Given the description of an element on the screen output the (x, y) to click on. 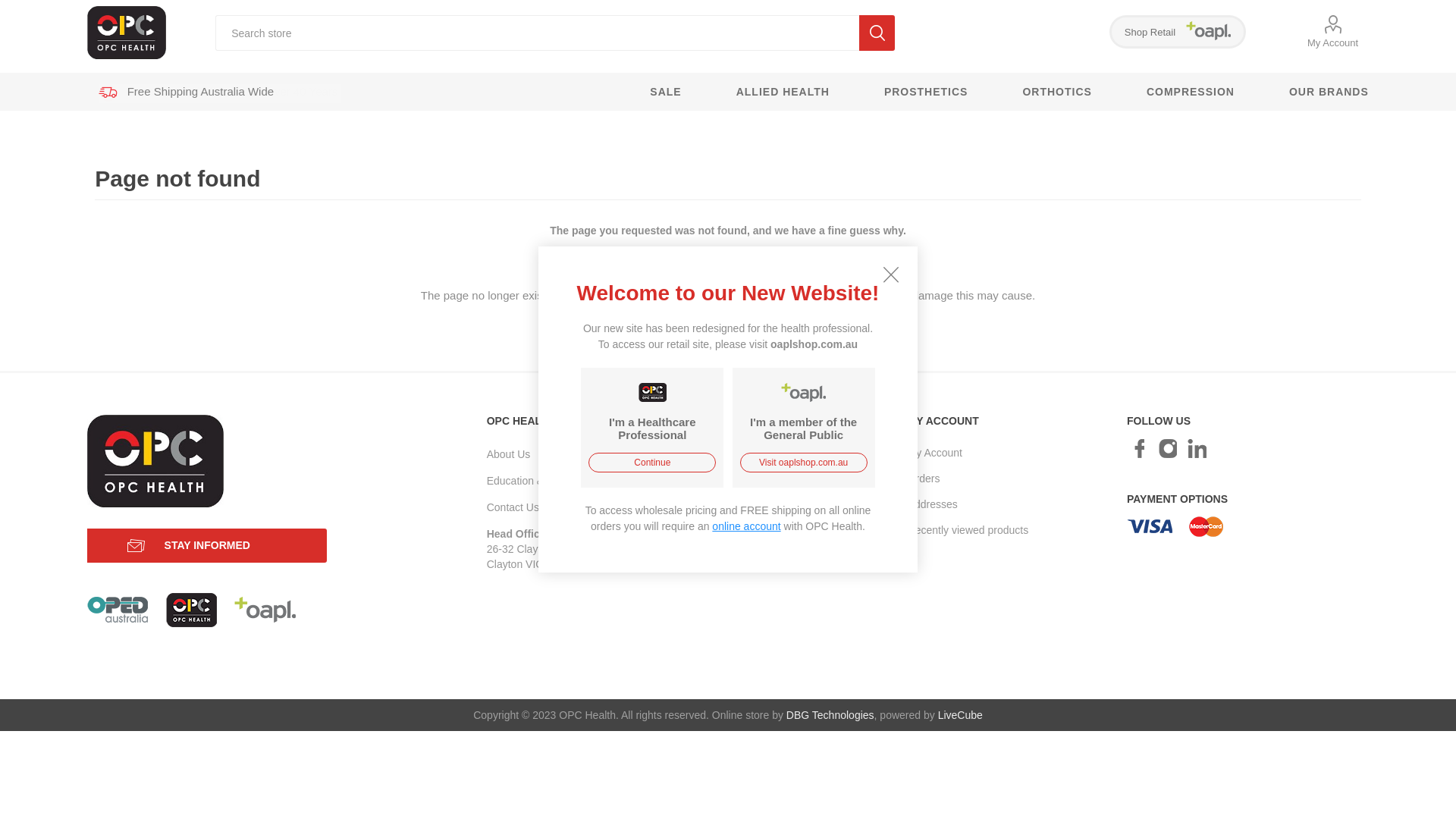
OPC Health Element type: hover (126, 32)
ALLIED HEALTH Element type: text (782, 91)
Addresses Element type: text (932, 504)
Help & FAQ Element type: text (724, 530)
Education & Events Element type: text (532, 480)
Shipping & Returns Element type: text (742, 452)
Terms & Conditions Element type: text (742, 504)
My Account Element type: text (934, 452)
PROSTHETICS Element type: text (925, 91)
My Account Element type: text (1332, 31)
DBG Technologies Element type: text (830, 715)
online account Element type: text (746, 526)
Contact Us Element type: text (512, 507)
Privacy Policy Element type: text (729, 478)
ORTHOTICS Element type: text (1056, 91)
Close Element type: text (890, 274)
oapl Element type: hover (264, 609)
SEARCH Element type: text (876, 32)
OUR BRANDS Element type: text (1314, 91)
oaplshop.com.au Element type: text (813, 344)
About Us Element type: text (508, 454)
Shop Retail Element type: text (1177, 31)
COMPRESSION Element type: text (1190, 91)
STAY INFORMED Element type: text (206, 545)
LiveCube Element type: text (960, 715)
OPC Element type: hover (191, 610)
OPED Australia Element type: hover (117, 609)
OPC HEALTH Element type: hover (652, 391)
OPC HEALTH Element type: hover (803, 391)
Visit oaplshop.com.au Element type: text (803, 462)
Recently viewed products Element type: text (968, 530)
Orders Element type: text (923, 478)
Continue Element type: text (651, 462)
SALE Element type: text (665, 91)
